Given the description of an element on the screen output the (x, y) to click on. 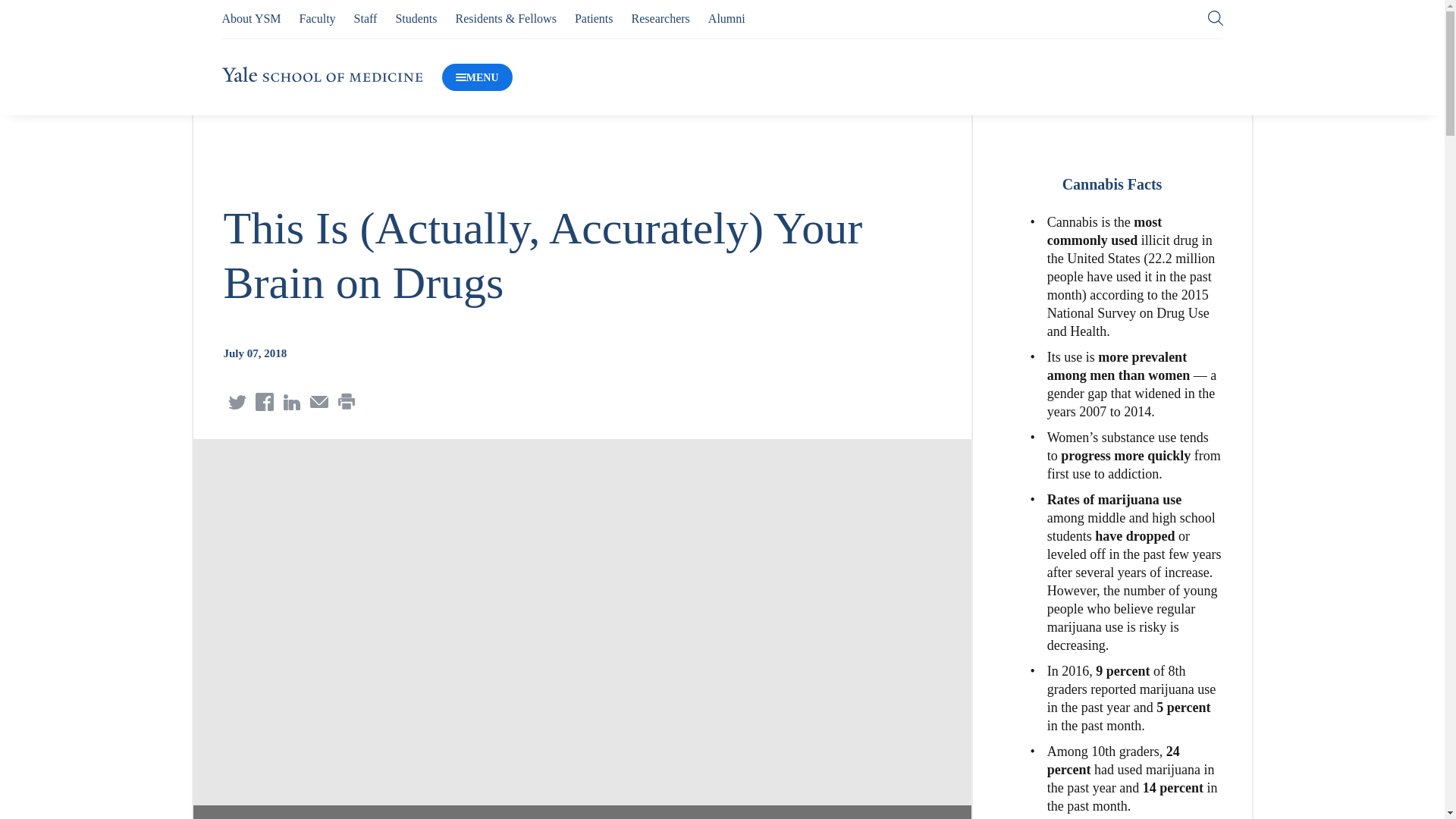
Alumni (726, 18)
Yale School of Medicine (321, 73)
Patients (593, 18)
About YSM (251, 18)
Students (415, 18)
Yale School of Medicine (321, 76)
Staff (365, 18)
MENU (477, 76)
Researchers (660, 18)
Faculty (317, 18)
